Given the description of an element on the screen output the (x, y) to click on. 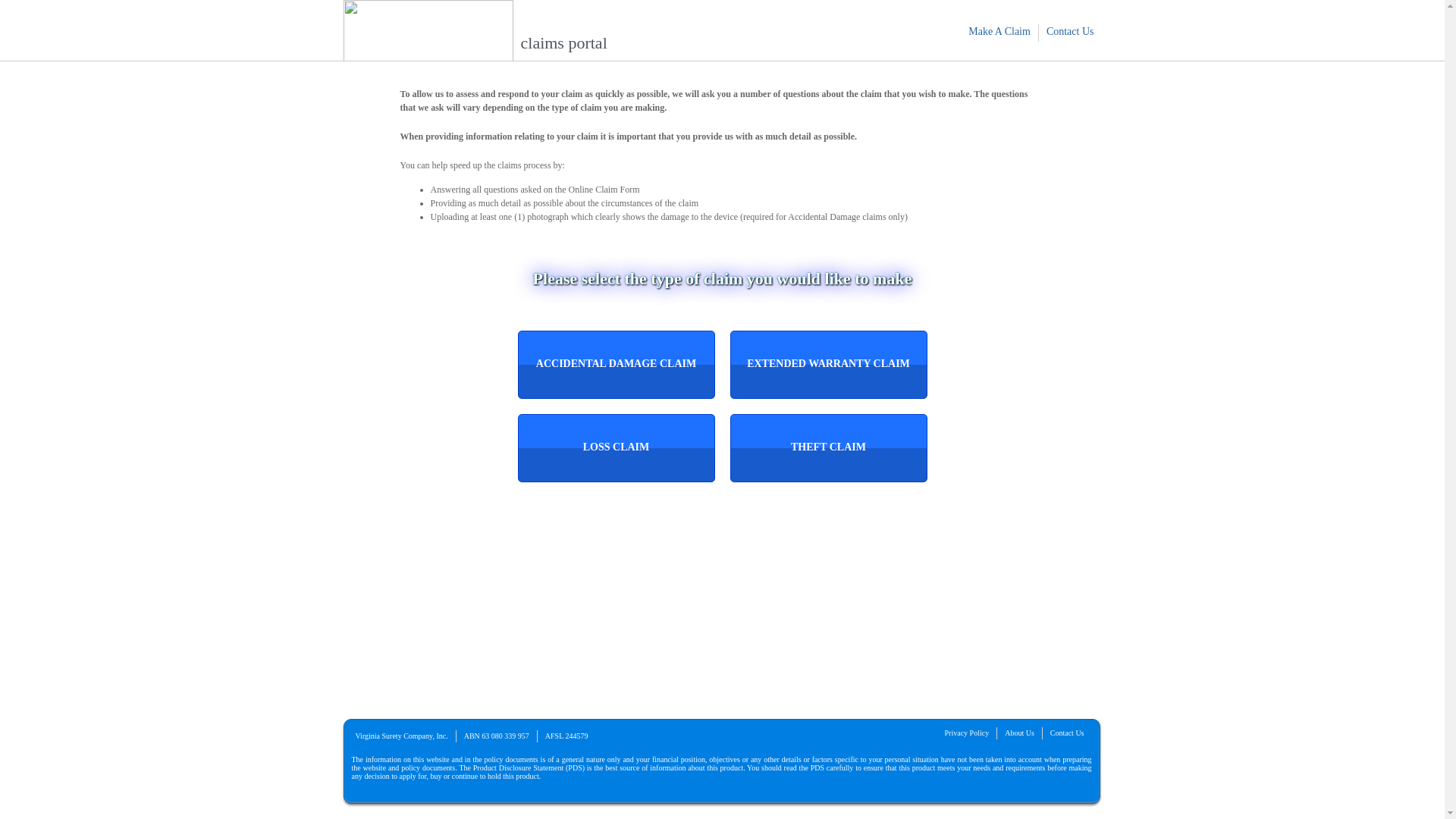
About Us Element type: text (1019, 732)
Extended Warranty Claim Element type: text (827, 364)
Accidental Damage Claim Element type: text (615, 364)
Theft Claim Element type: text (827, 448)
Make A Claim Element type: text (999, 31)
Contact Us Element type: text (1067, 732)
Privacy Policy Element type: text (966, 732)
Loss Claim Element type: text (615, 448)
Contact Us Element type: text (1069, 31)
